Given the description of an element on the screen output the (x, y) to click on. 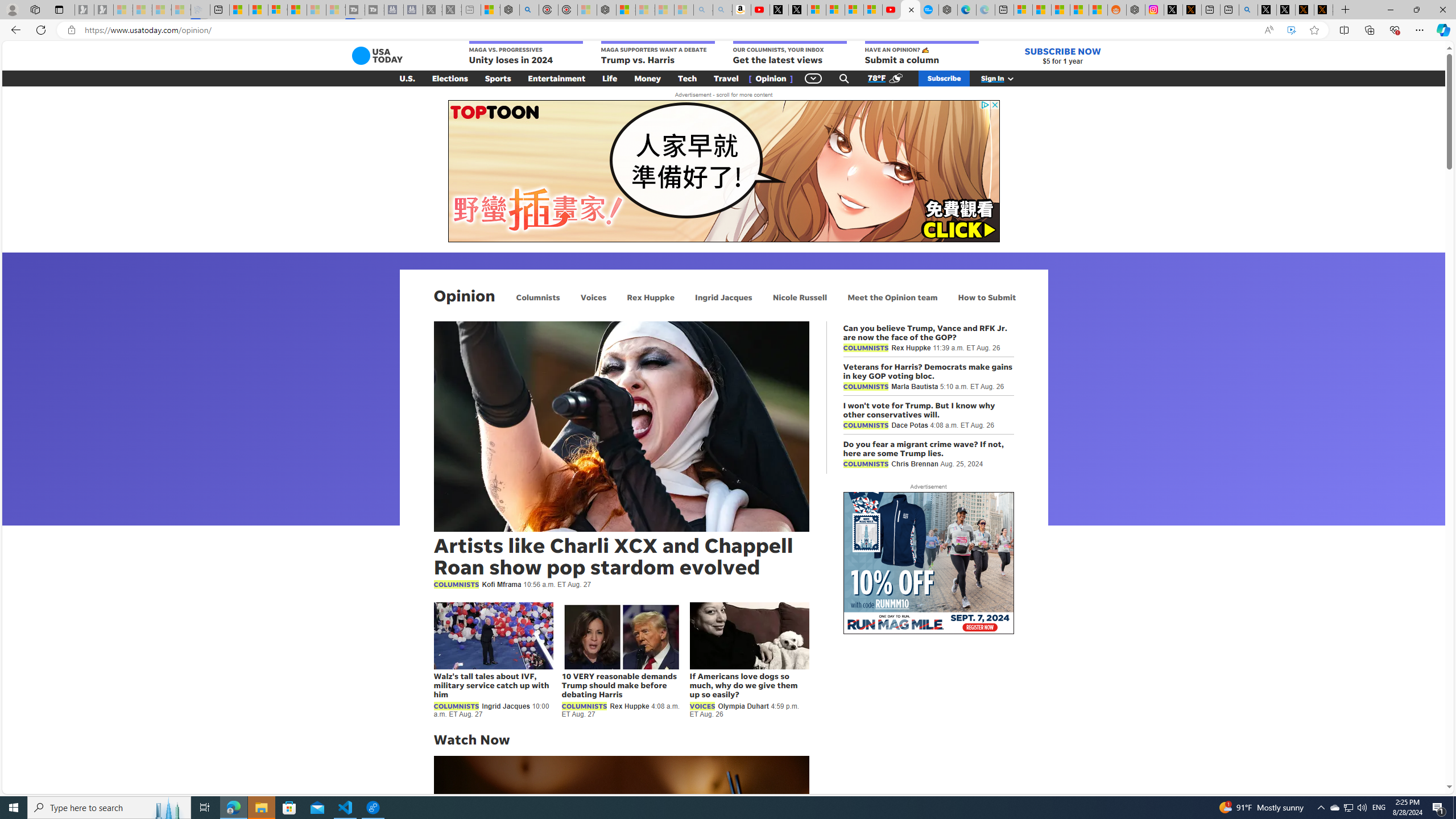
[ Opinion ] (770, 78)
Entertainment (556, 78)
To get missing image descriptions, open the context menu. (723, 170)
AutomationID: close_button_svg (994, 104)
Microsoft account | Microsoft Account Privacy Settings (1022, 9)
